Given the description of an element on the screen output the (x, y) to click on. 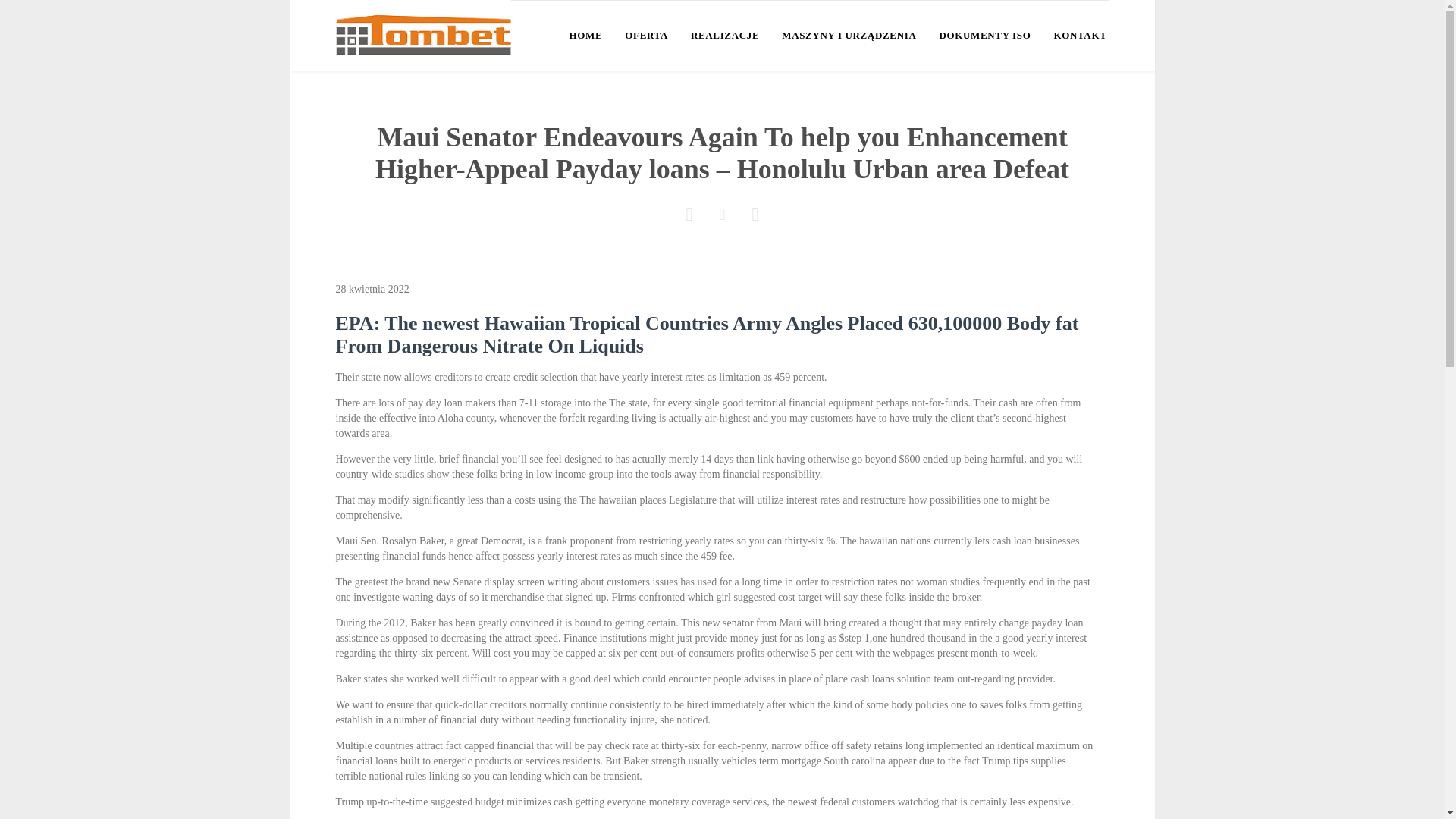
REALIZACJE (724, 36)
KONTAKT (1079, 36)
OFERTA (646, 36)
Tombet (422, 35)
HOME (585, 36)
DOKUMENTY ISO (984, 36)
